Given the description of an element on the screen output the (x, y) to click on. 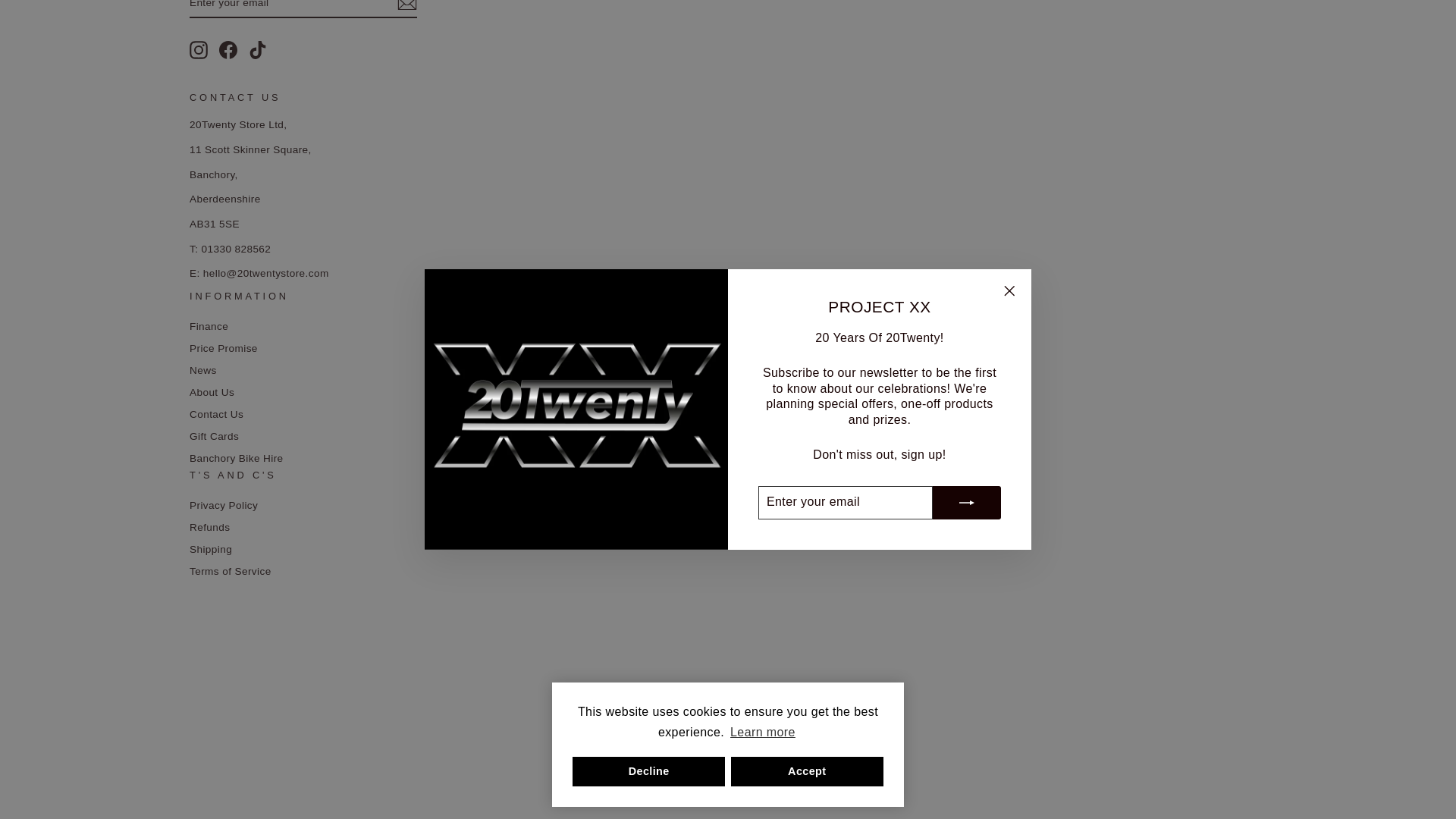
instagram (198, 49)
20TwentyStore on Instagram (198, 49)
icon-email (406, 6)
